Given the description of an element on the screen output the (x, y) to click on. 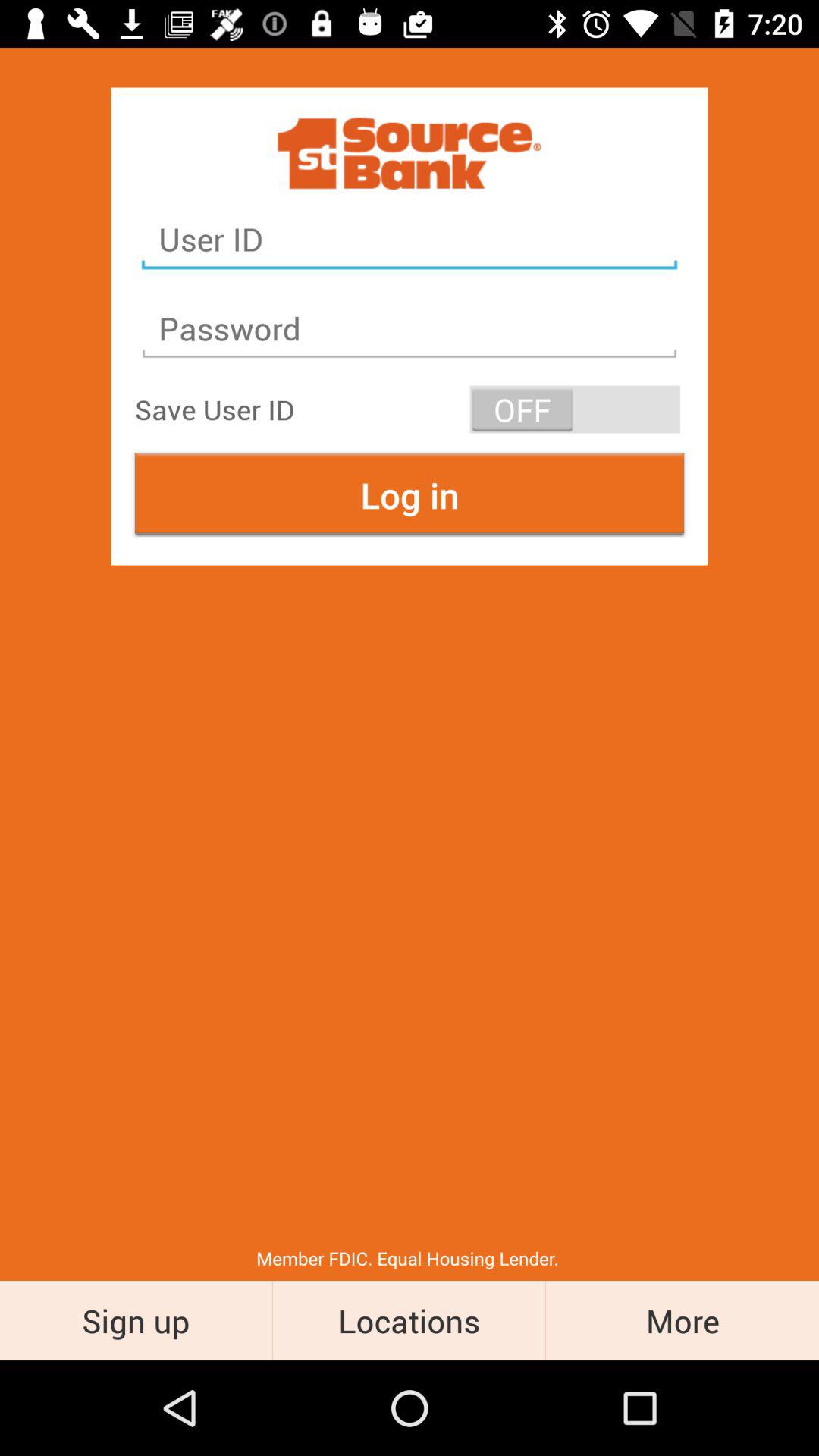
turn off the item at the top right corner (574, 409)
